Given the description of an element on the screen output the (x, y) to click on. 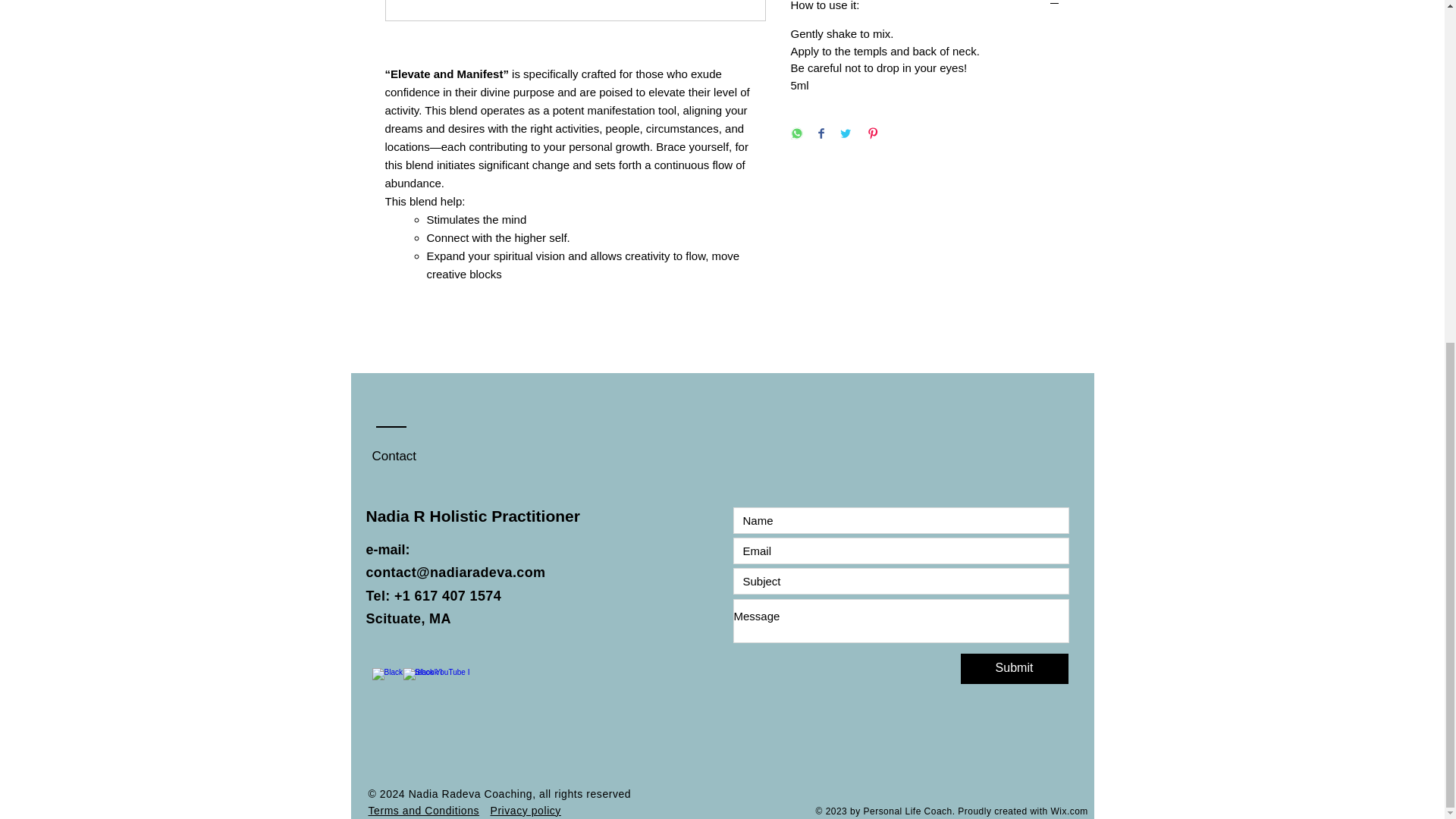
Submit (1013, 668)
Wix.com (1068, 810)
How to use it: (924, 6)
Terms and Conditions (424, 810)
Privacy policy (524, 810)
